Given the description of an element on the screen output the (x, y) to click on. 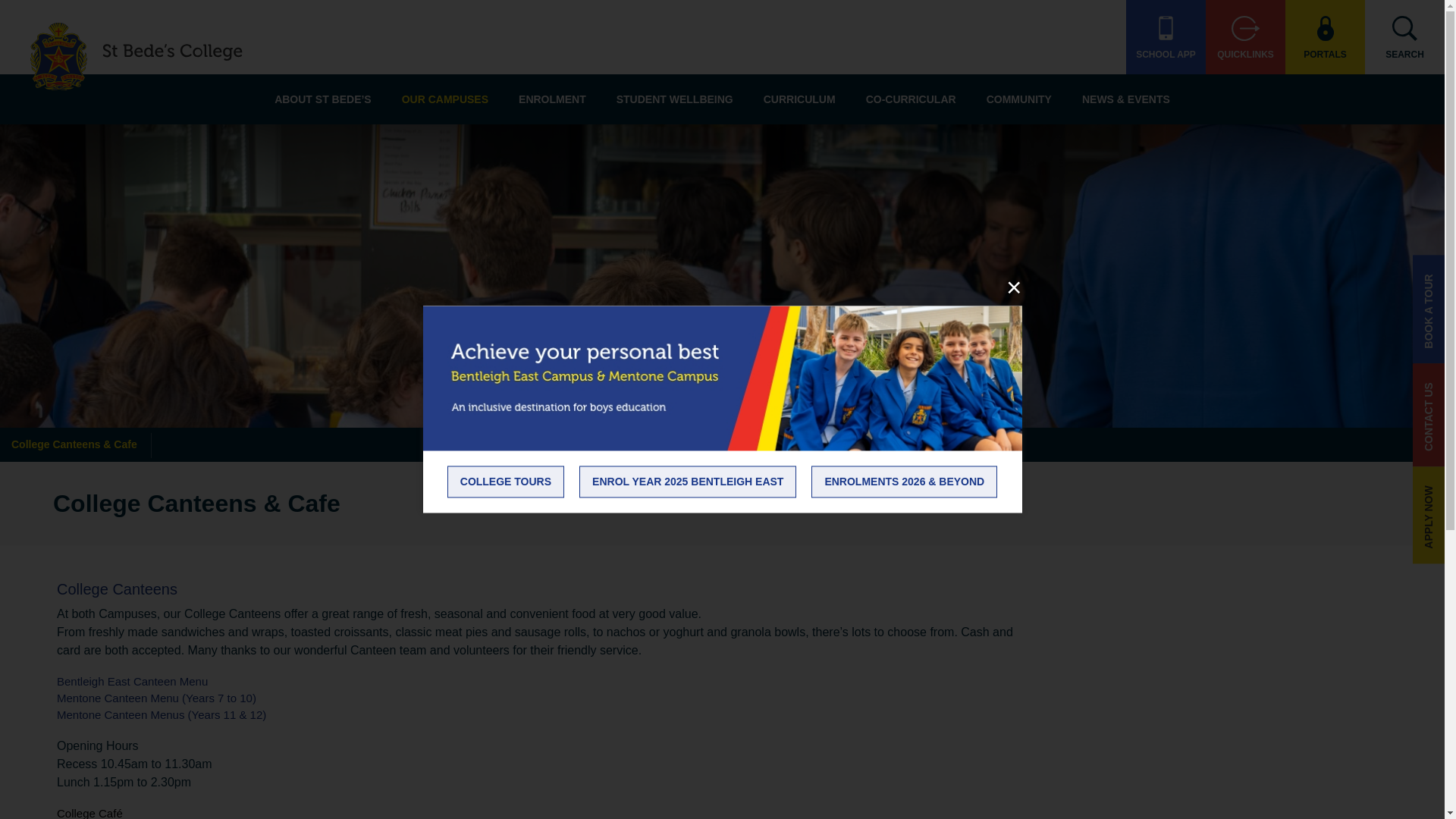
STUDENT WELLBEING (674, 99)
QUICKLINKS (1245, 37)
OUR CAMPUSES (445, 99)
SCHOOL APP (1165, 37)
Skip to content (768, 149)
CURRICULUM (799, 99)
PORTALS (1325, 37)
ENROLMENT (552, 99)
